Given the description of an element on the screen output the (x, y) to click on. 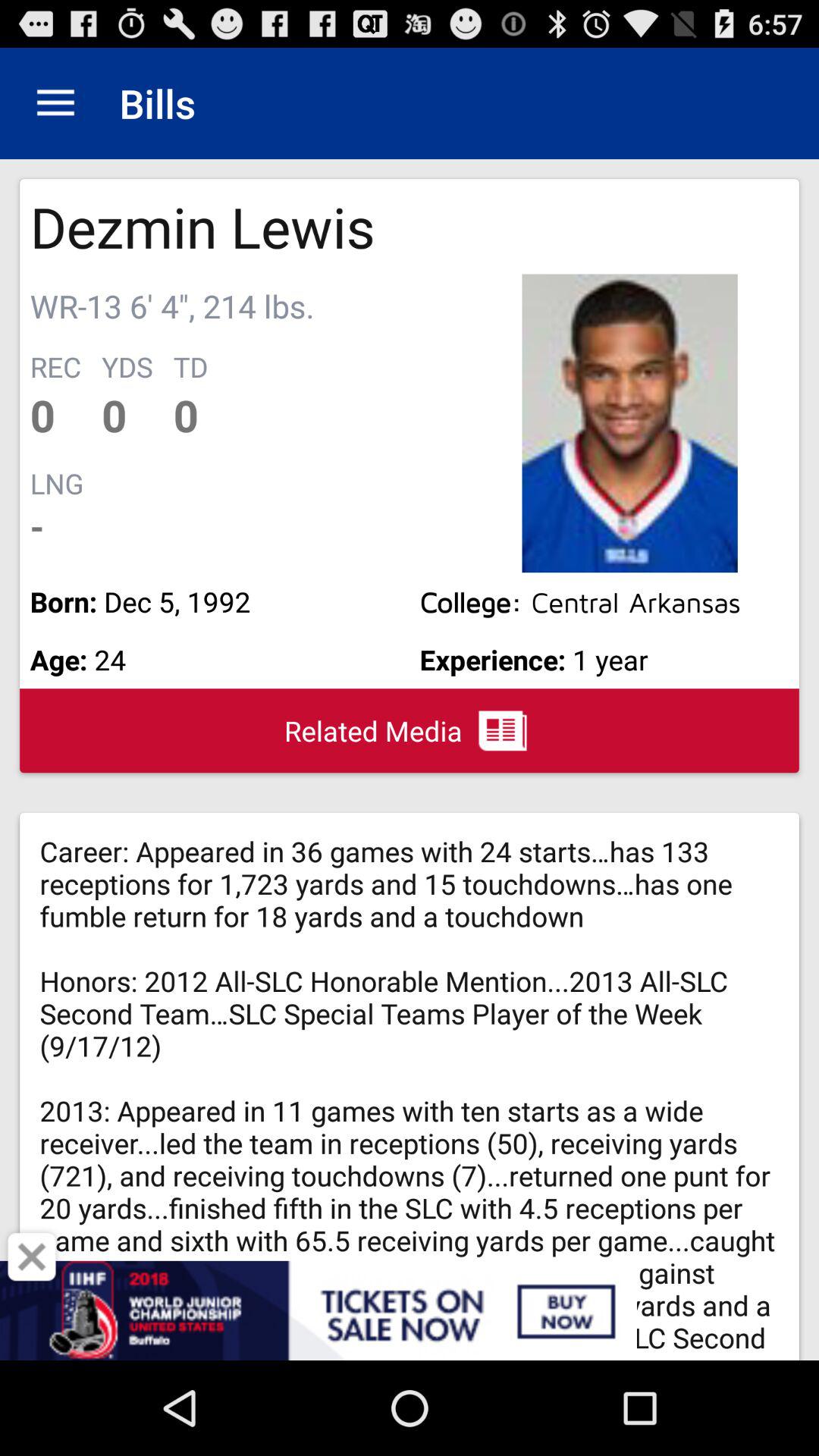
select advertisement (409, 1310)
